Given the description of an element on the screen output the (x, y) to click on. 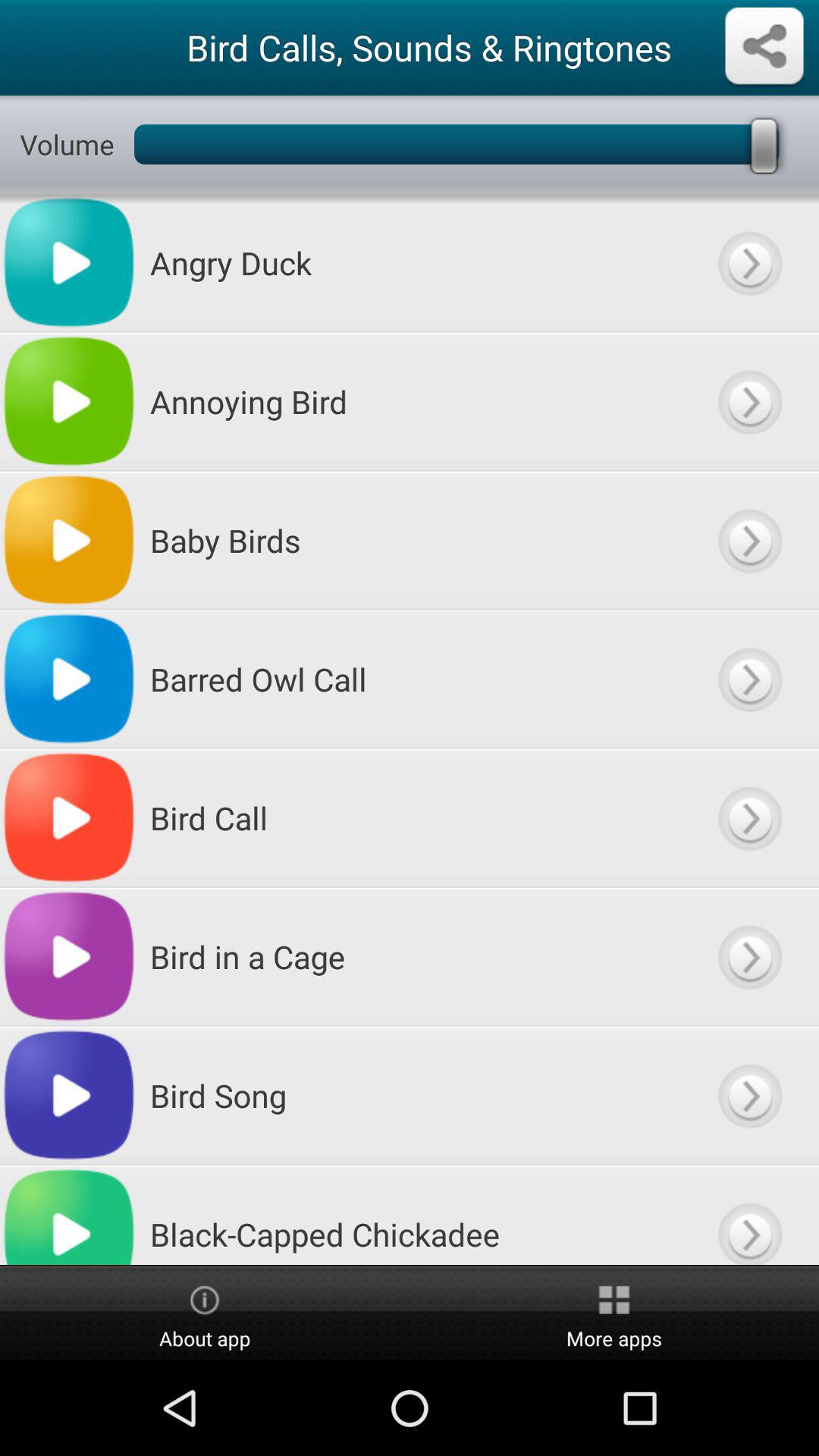
play sound (749, 818)
